Given the description of an element on the screen output the (x, y) to click on. 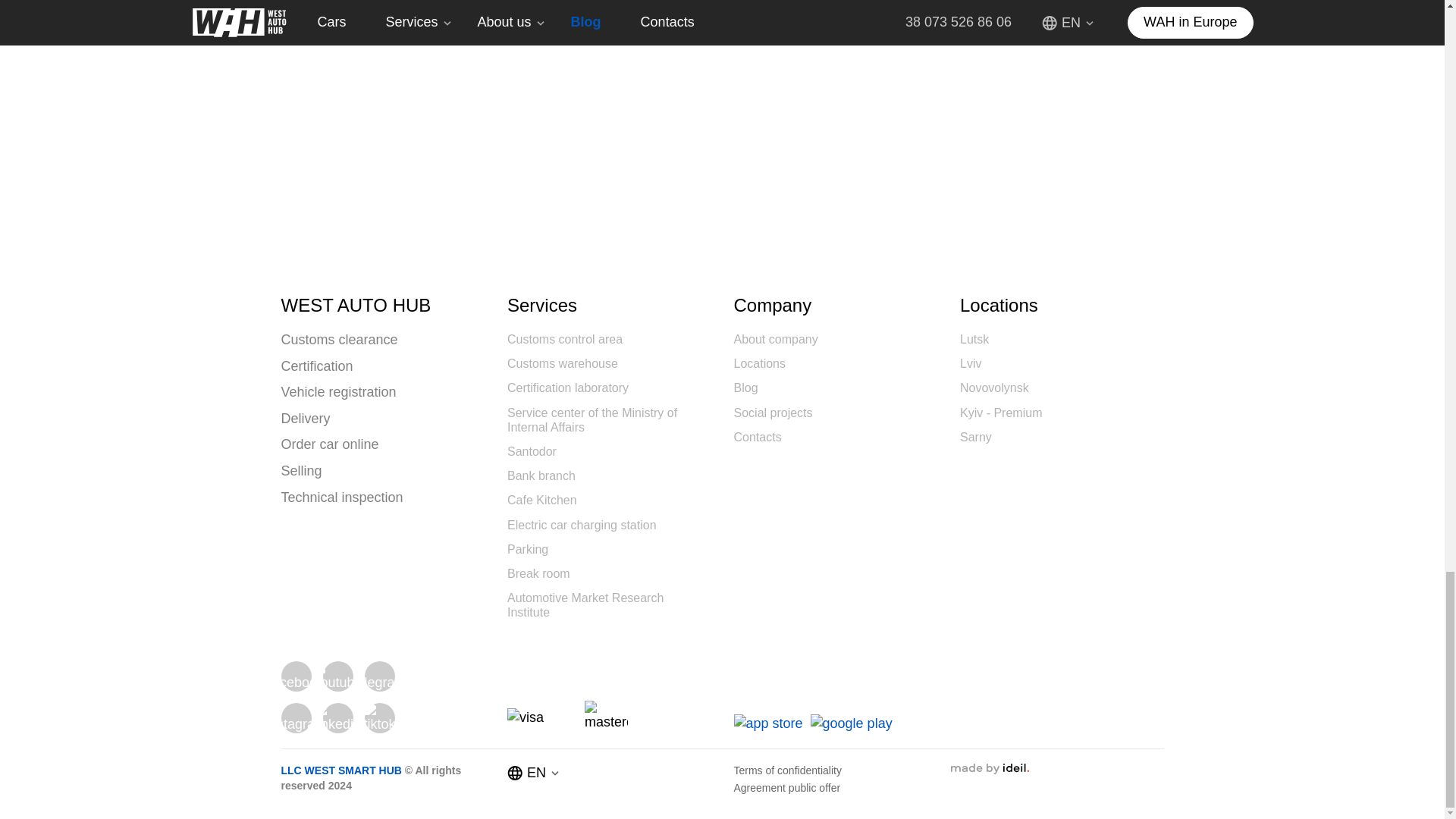
Vehicle registration (339, 392)
Delivery (306, 419)
Customs clearance (339, 340)
Certification (317, 366)
WEST AUTO HUB (382, 305)
Order car online (330, 445)
